Given the description of an element on the screen output the (x, y) to click on. 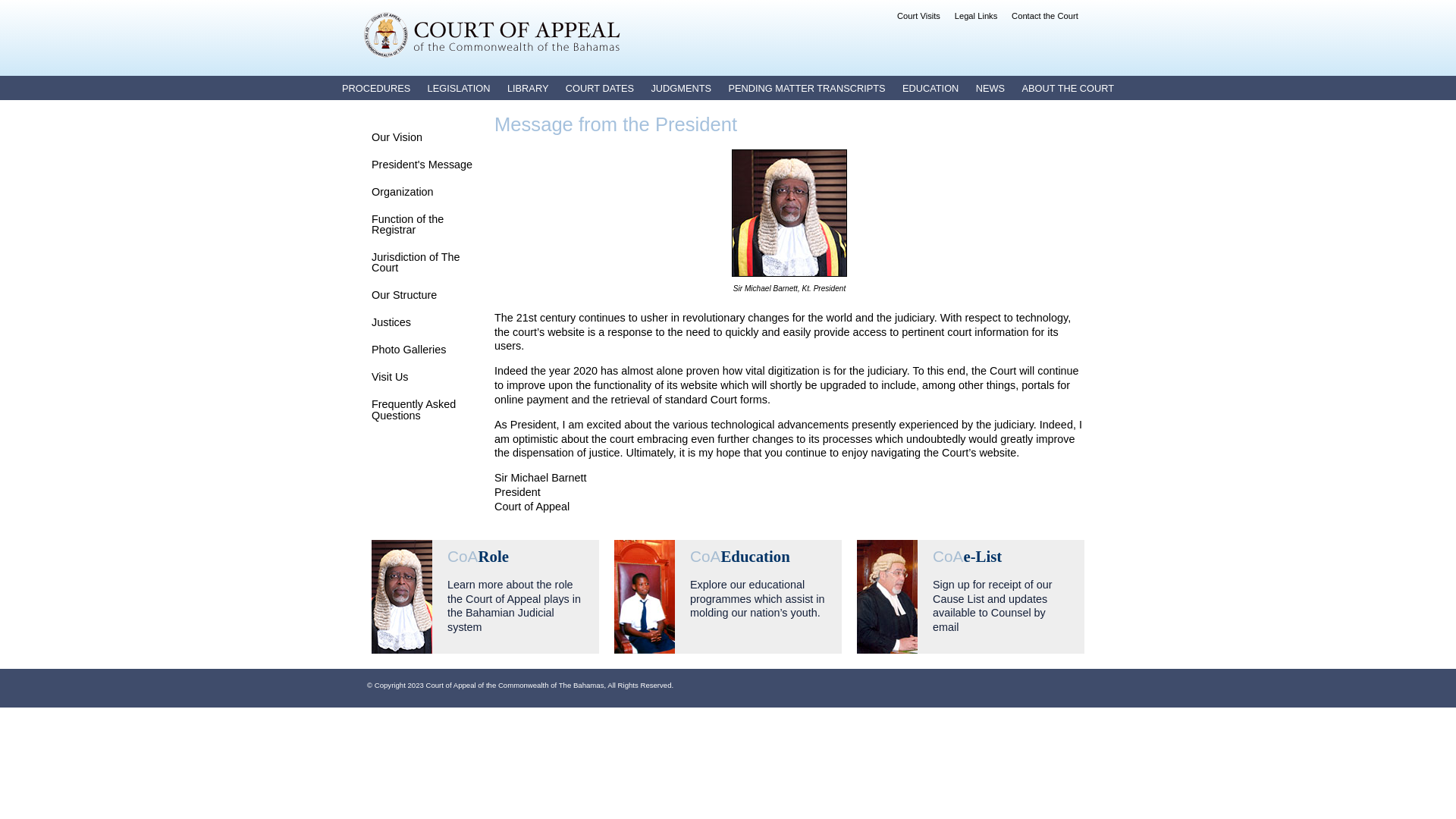
LIBRARY Element type: text (528, 88)
Return to Main Page Element type: text (492, 34)
About the Court of Appeal Element type: text (485, 596)
JUDGMENTS Element type: text (680, 88)
Justices Element type: text (391, 322)
Find out about our educational programs Element type: text (727, 596)
COURT DATES Element type: text (599, 88)
President's Message Element type: text (421, 164)
ABOUT THE COURT Element type: text (1068, 88)
Legal Links Element type: text (975, 15)
NEWS Element type: text (989, 88)
Function of the Registrar Element type: text (407, 224)
Contact the Court Element type: text (1044, 15)
Sign up now Element type: text (970, 596)
Our Structure Element type: text (403, 294)
Our Vision Element type: text (396, 137)
Jurisdiction of The Court Element type: text (415, 262)
Court Visits Element type: text (918, 15)
Photo Galleries Element type: text (408, 349)
Organization Element type: text (402, 191)
Frequently Asked Questions Element type: text (413, 409)
PROCEDURES Element type: text (376, 88)
PENDING MATTER TRANSCRIPTS Element type: text (806, 88)
LEGISLATION Element type: text (458, 88)
Visit Us Element type: text (389, 376)
EDUCATION Element type: text (930, 88)
